Given the description of an element on the screen output the (x, y) to click on. 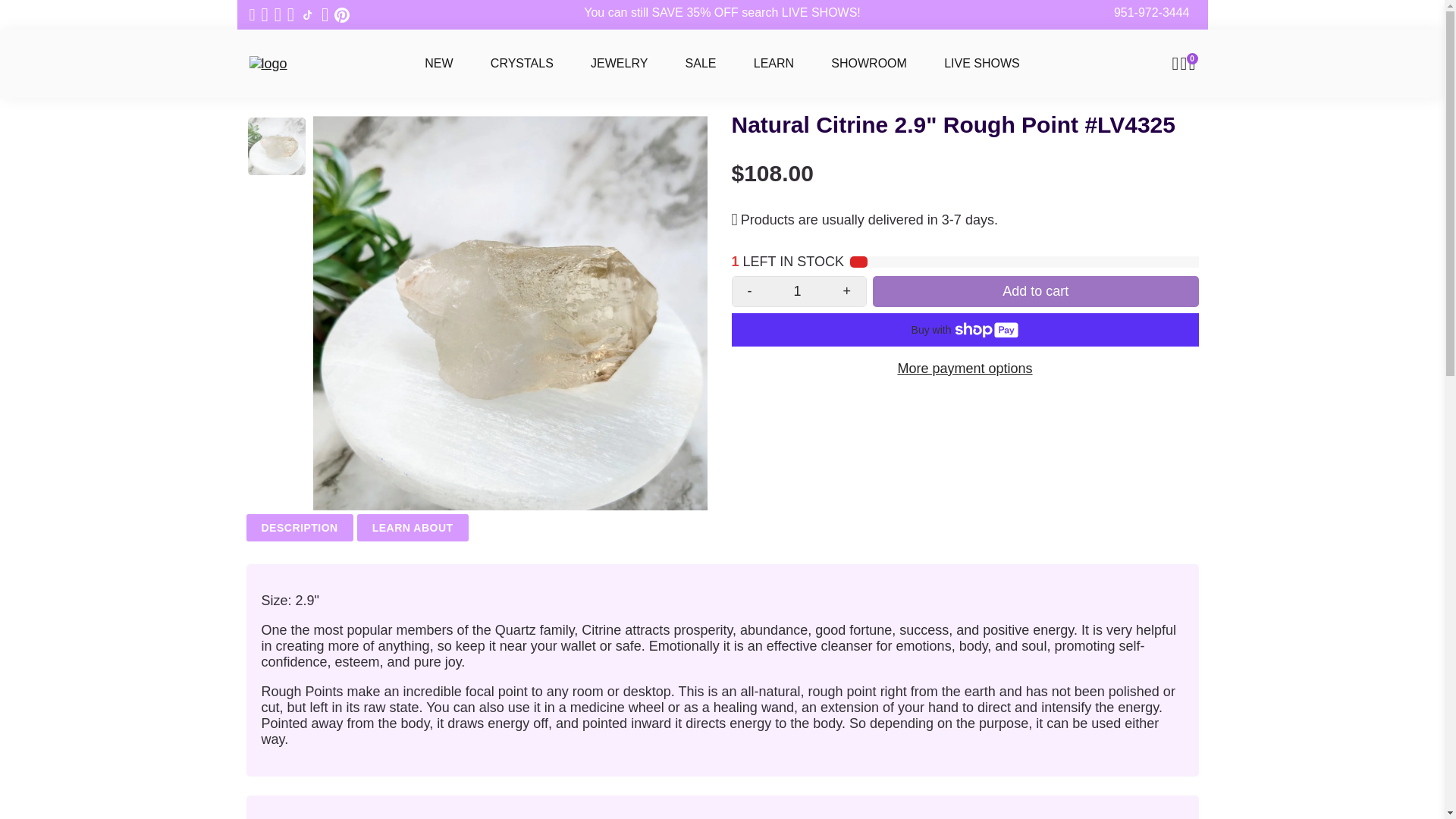
951-972-3444 (1151, 12)
CRYSTALS (522, 63)
1 (797, 291)
